Given the description of an element on the screen output the (x, y) to click on. 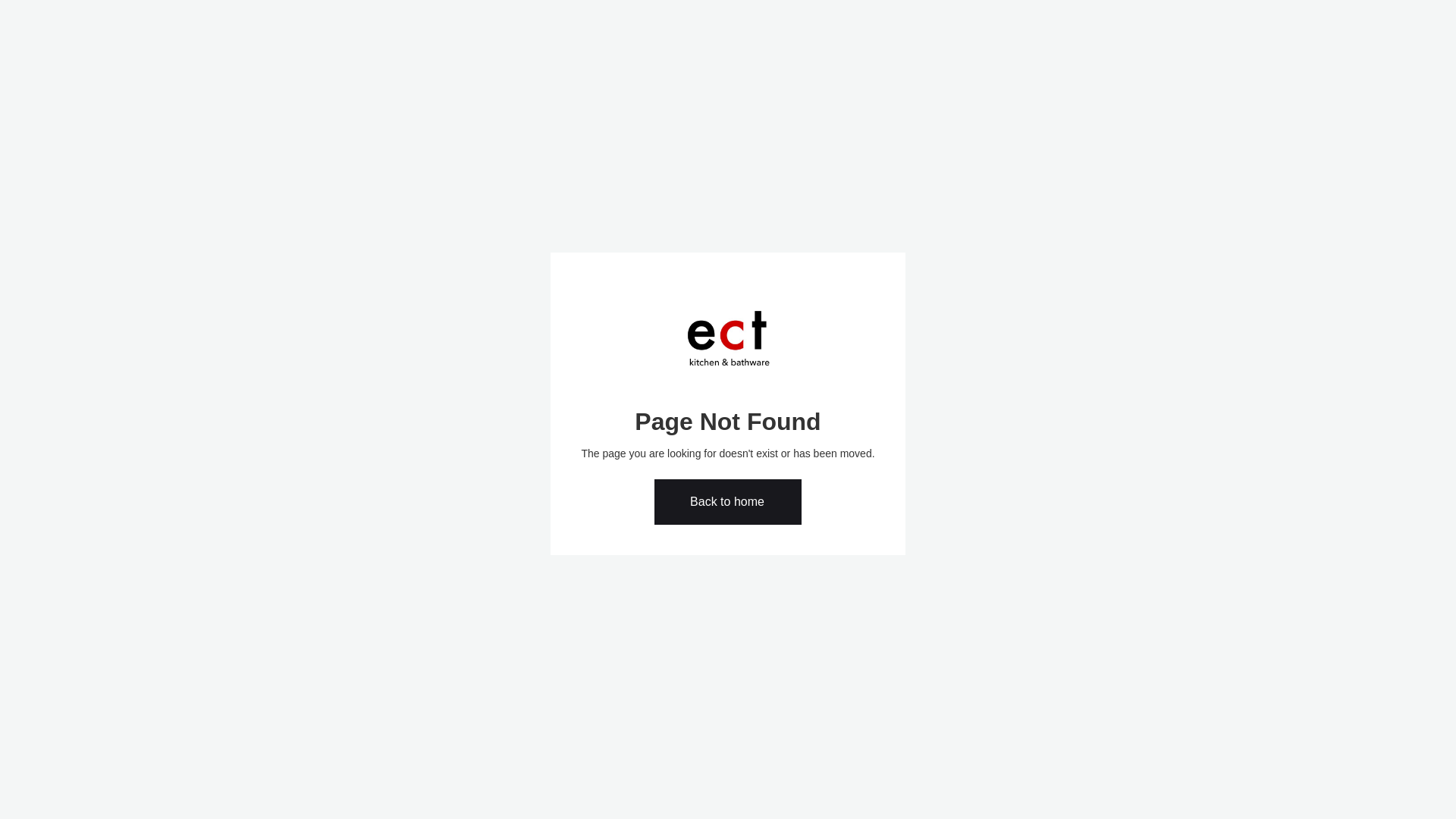
Back to home Element type: text (727, 501)
